Given the description of an element on the screen output the (x, y) to click on. 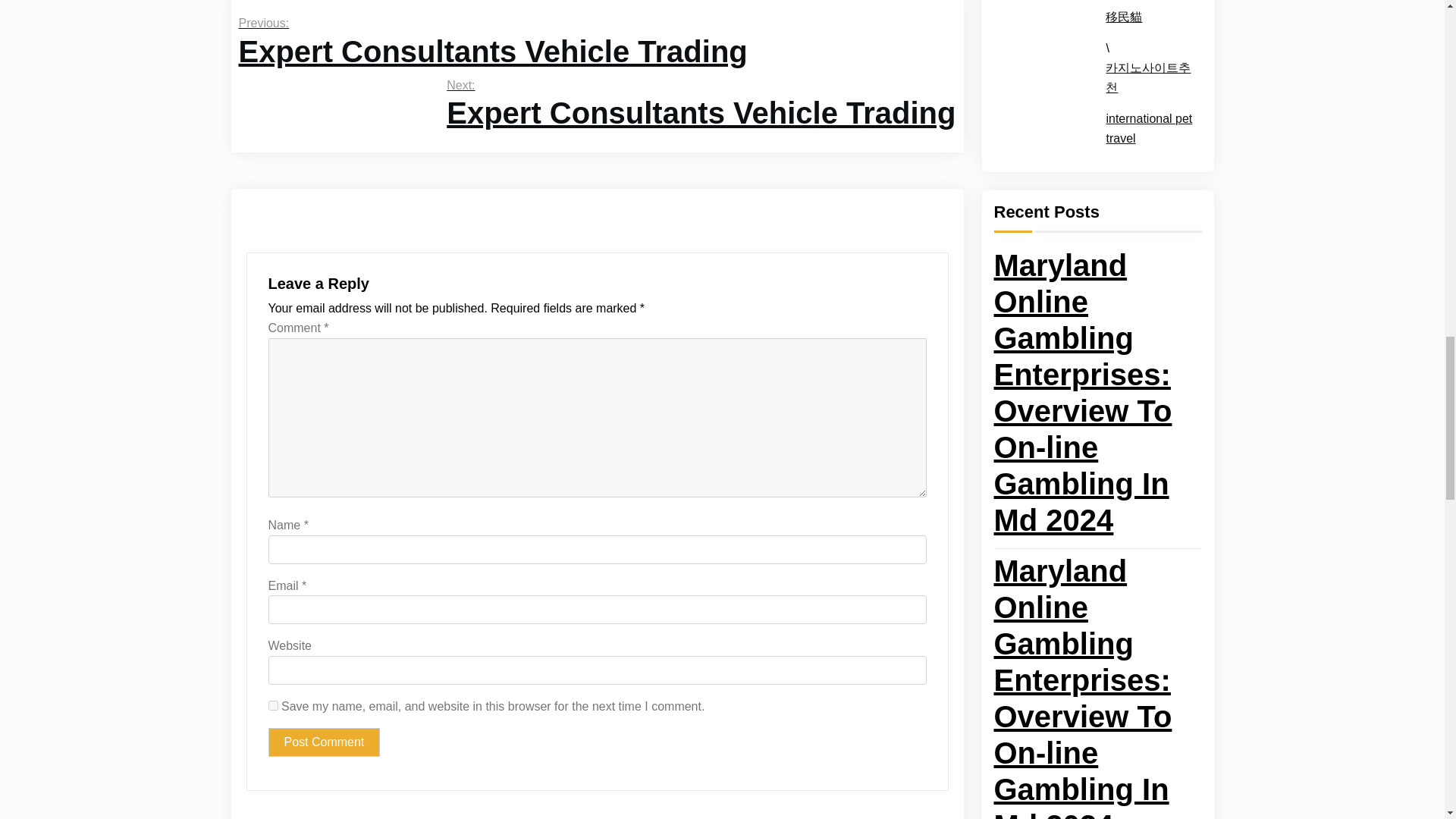
yes (272, 705)
Post Comment (323, 742)
Post Comment (492, 44)
